Given the description of an element on the screen output the (x, y) to click on. 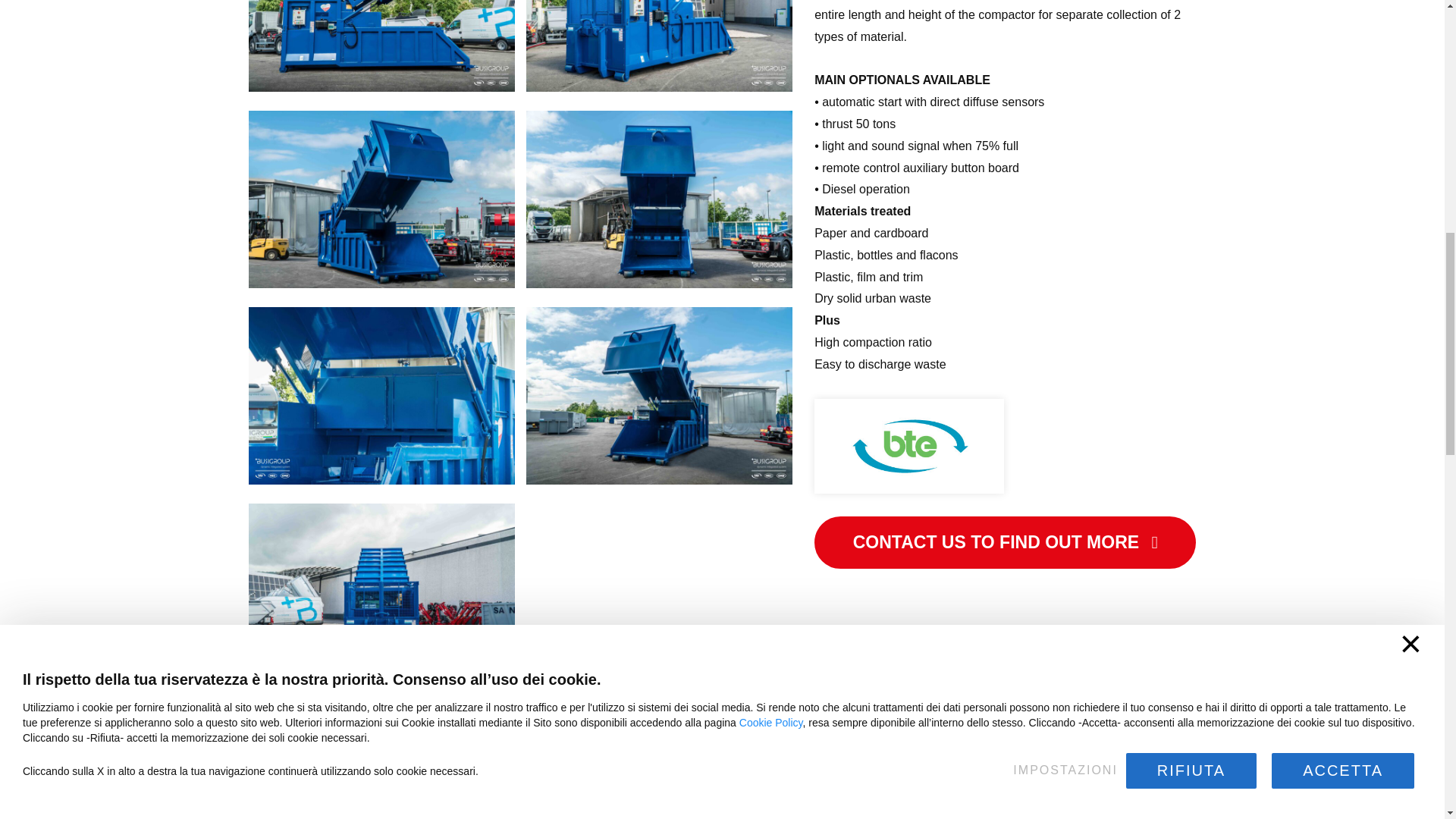
CONTACT US TO FIND OUT MORE (1004, 542)
